Given the description of an element on the screen output the (x, y) to click on. 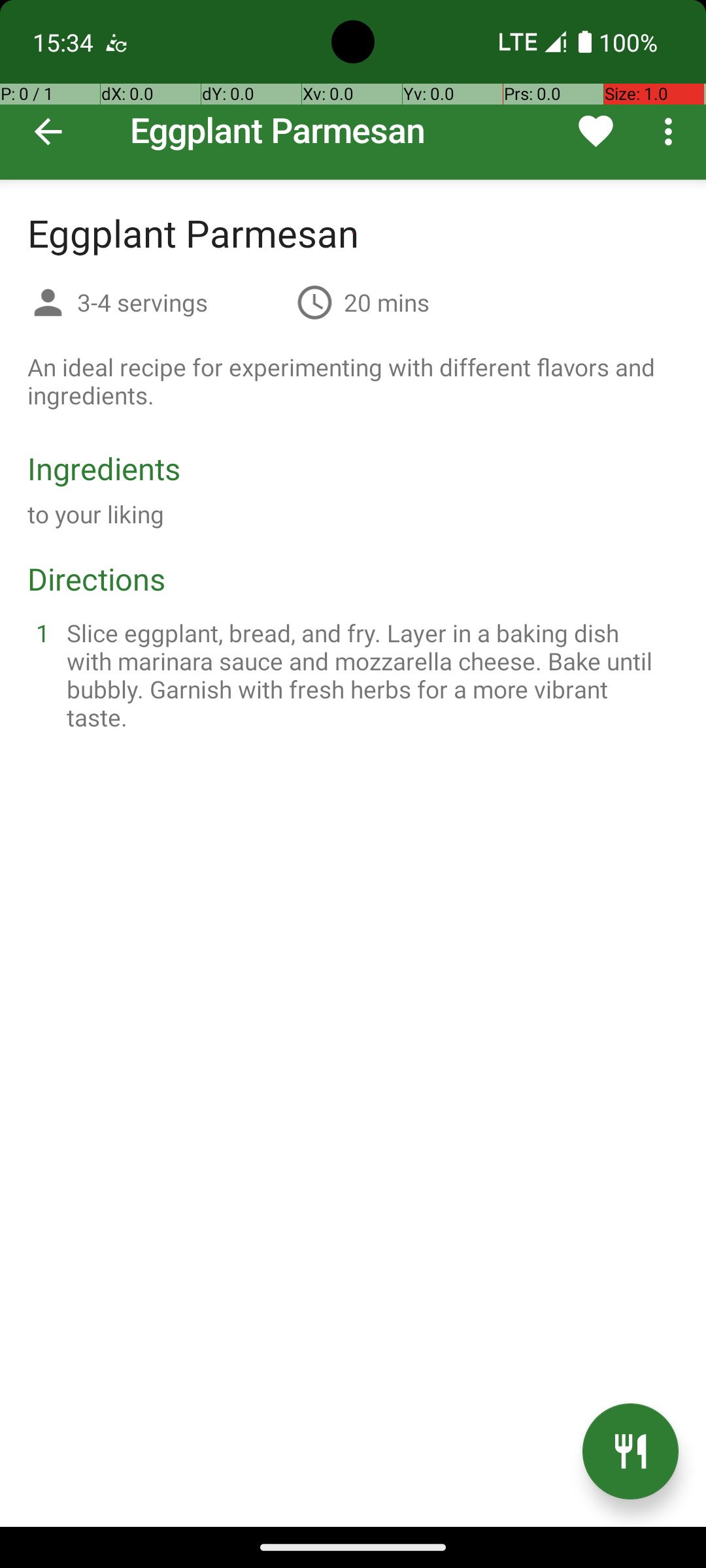
to your liking Element type: android.widget.TextView (95, 513)
Slice eggplant, bread, and fry. Layer in a baking dish with marinara sauce and mozzarella cheese. Bake until bubbly. Garnish with fresh herbs for a more vibrant taste. Element type: android.widget.TextView (368, 674)
